Given the description of an element on the screen output the (x, y) to click on. 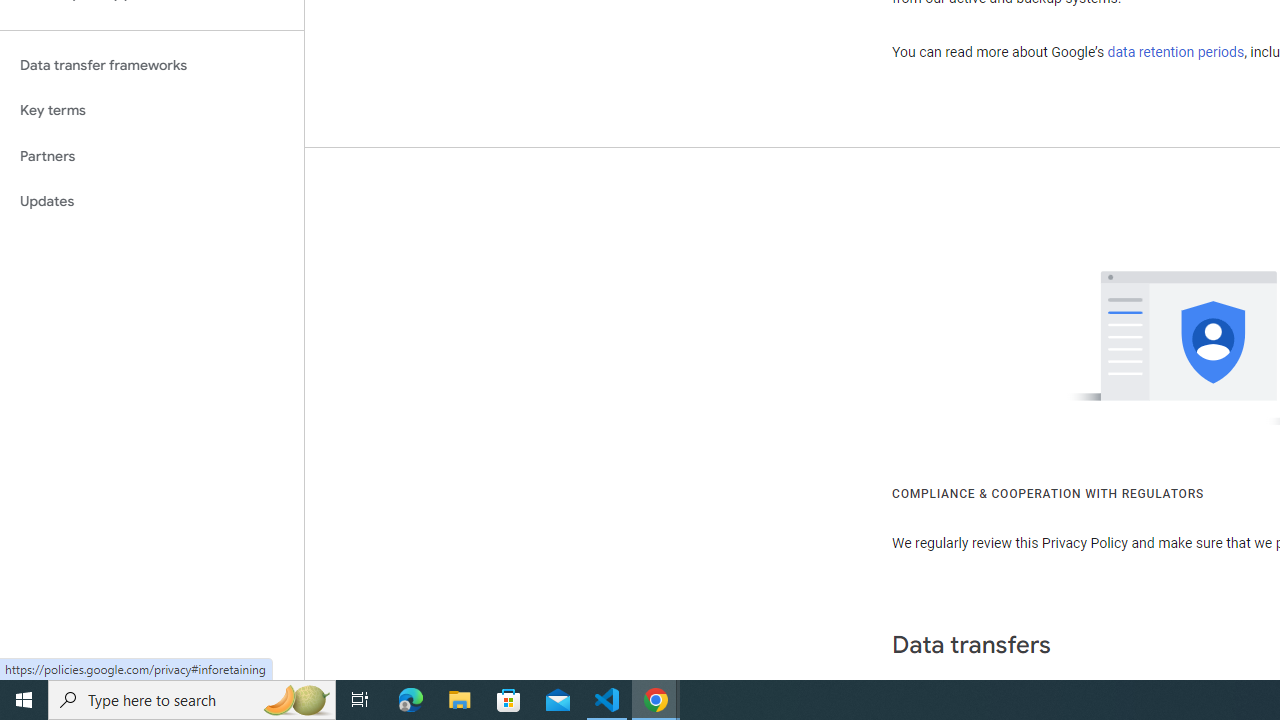
Partners (152, 156)
Updates (152, 201)
Data transfer frameworks (152, 65)
Key terms (152, 110)
data retention periods (1176, 52)
